Given the description of an element on the screen output the (x, y) to click on. 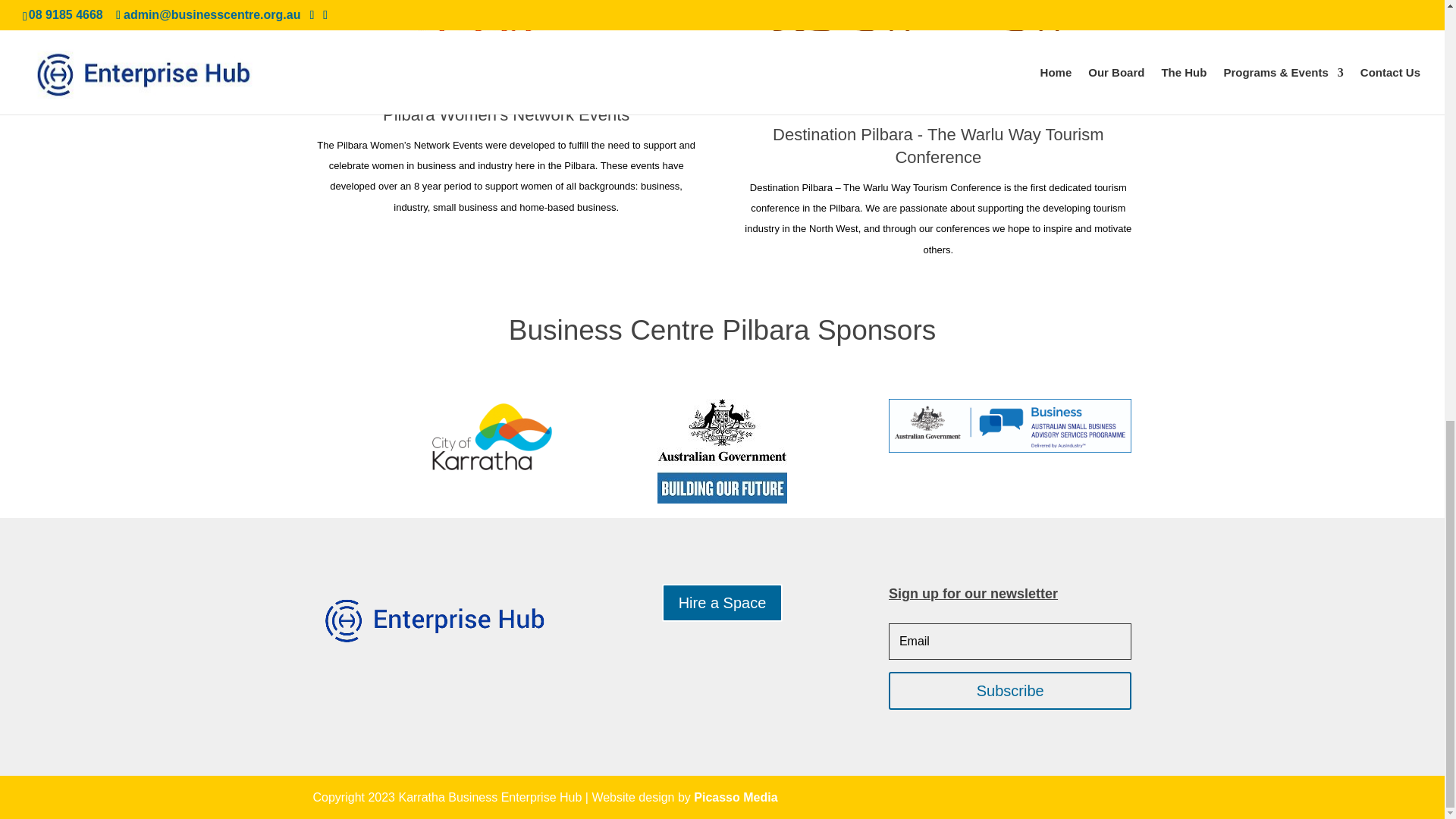
ENTERPRISE HUB LOGO (433, 618)
central coast website design (735, 797)
Picasso Media (735, 797)
Pilbara Women's Network Events (505, 114)
Subscribe (1009, 690)
Destination Pilbara - The Warlu Way Tourism Conference (938, 145)
Hire a Space (722, 602)
